Given the description of an element on the screen output the (x, y) to click on. 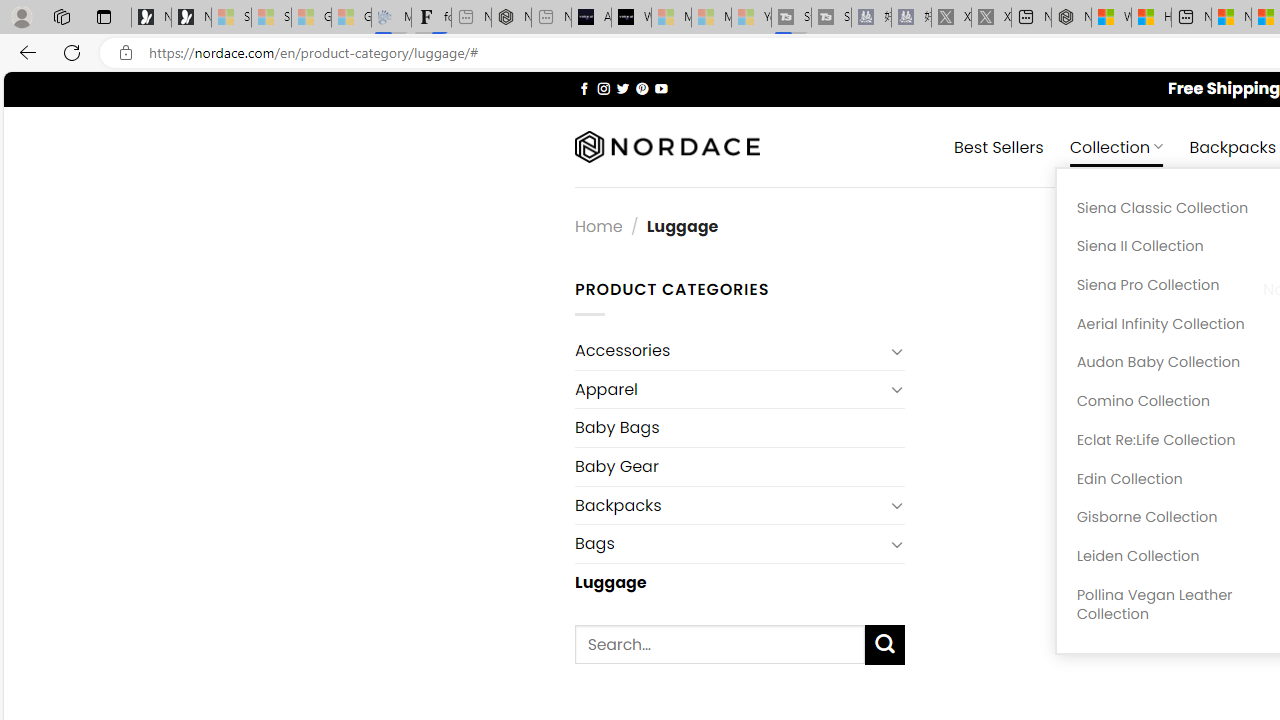
Baby Bags (739, 427)
Follow on Instagram (603, 88)
AI Voice Changer for PC and Mac - Voice.ai (591, 17)
Follow on YouTube (661, 88)
Accessories (729, 350)
Microsoft Start - Sleeping (711, 17)
Huge shark washes ashore at New York City beach | Watch (1151, 17)
Baby Gear (739, 466)
Back (24, 52)
Baby Bags (739, 427)
